Given the description of an element on the screen output the (x, y) to click on. 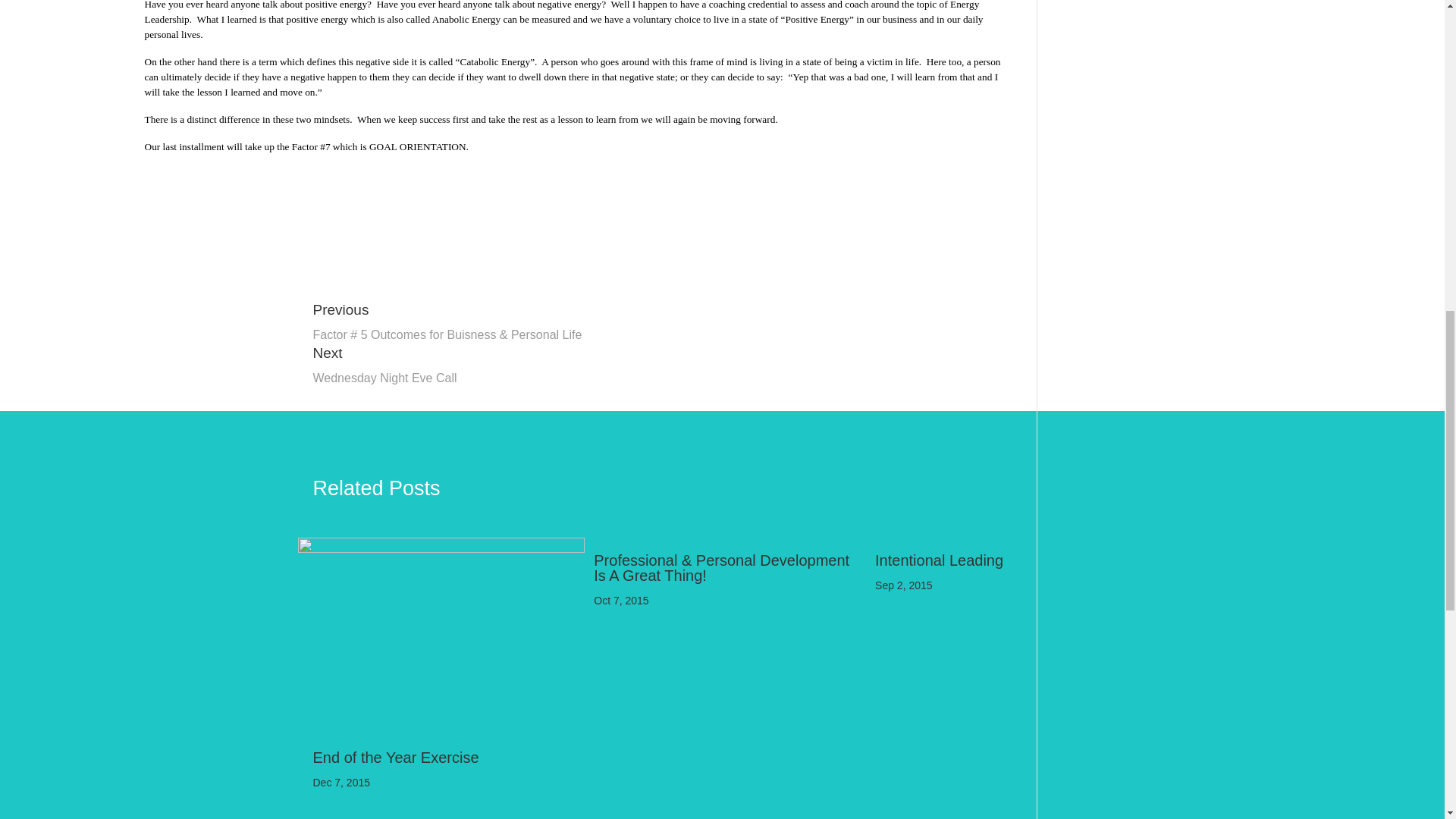
End of the Year Exercise (396, 757)
Wednesday Night Eve Call (385, 377)
Intentional Leading (939, 560)
